Given the description of an element on the screen output the (x, y) to click on. 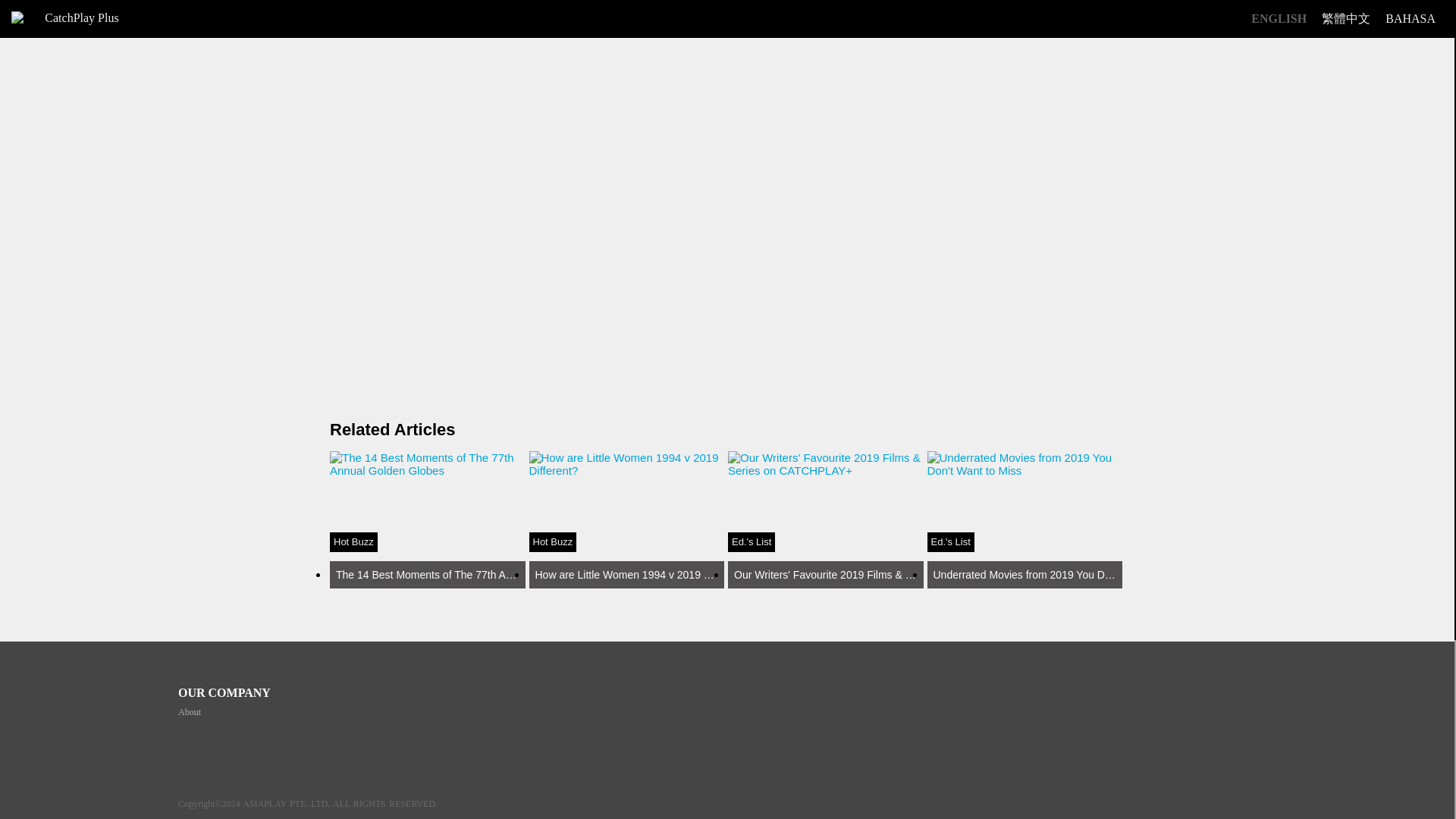
About (627, 519)
